Given the description of an element on the screen output the (x, y) to click on. 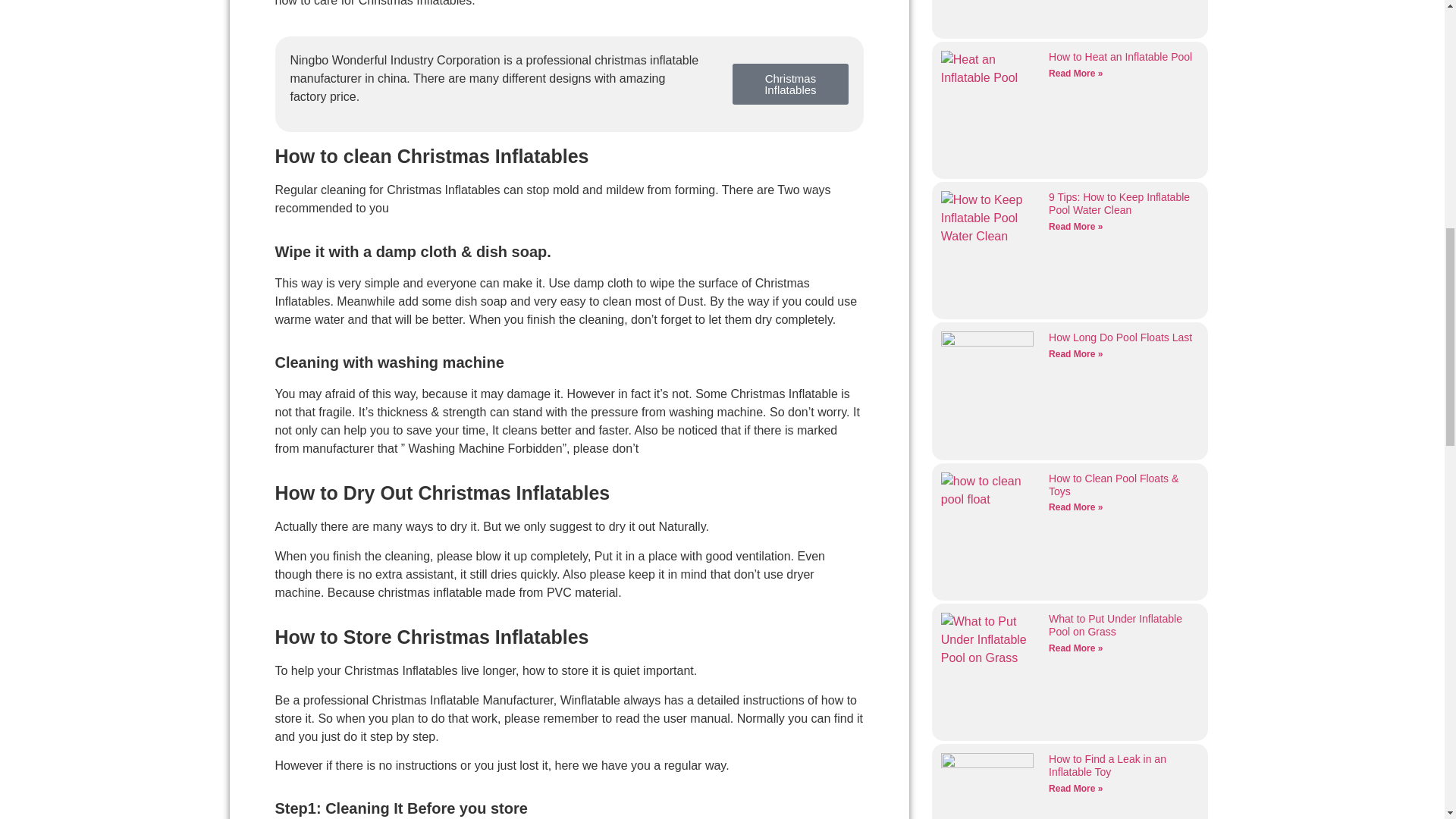
Christmas Inflatables (790, 83)
